Given the description of an element on the screen output the (x, y) to click on. 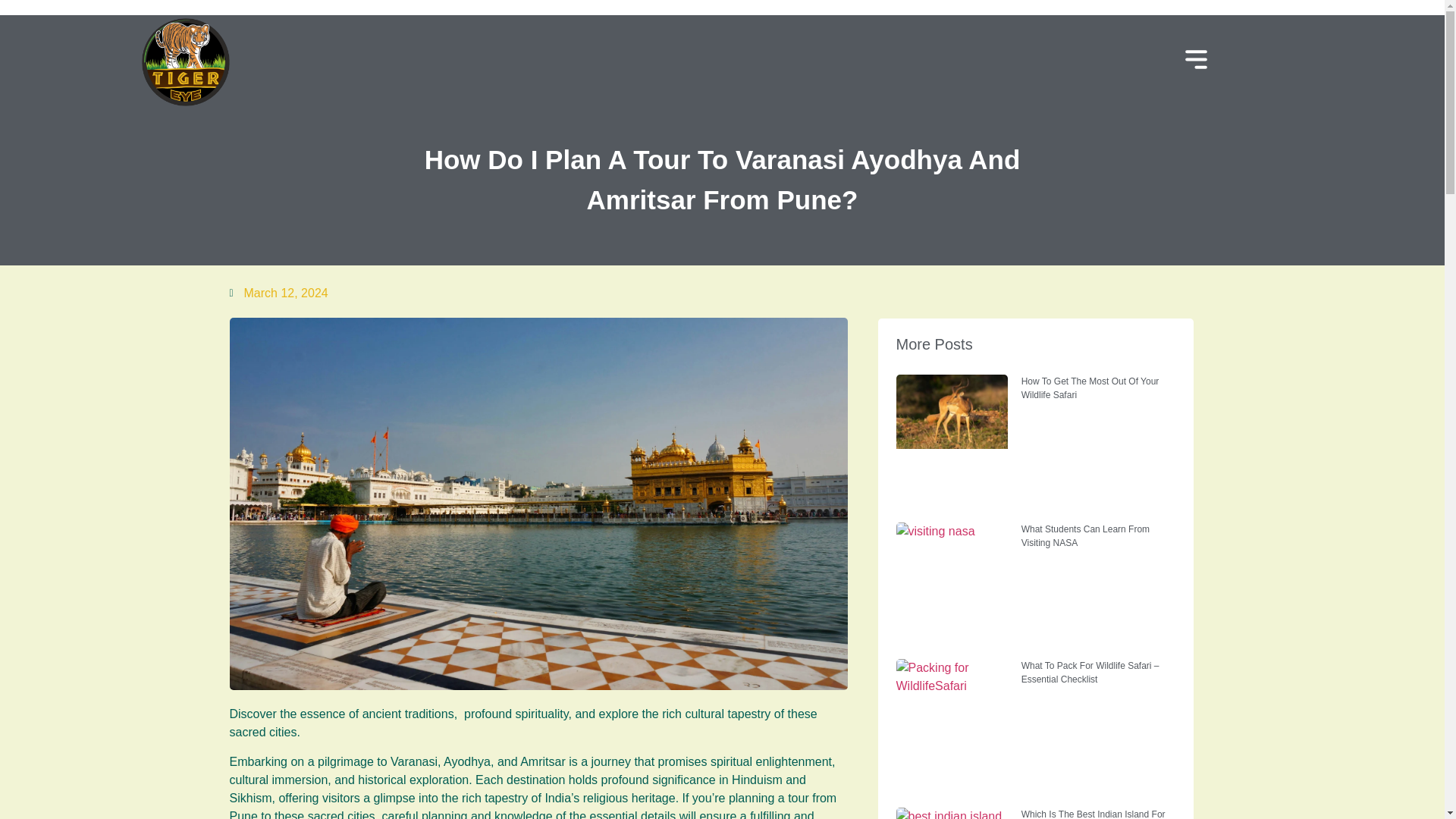
Which Is The Best Indian Island For Tourism? (1094, 814)
What Students Can Learn From Visiting NASA (1086, 535)
How To Get The Most Out Of Your Wildlife Safari (1090, 387)
March 12, 2024 (277, 293)
